Given the description of an element on the screen output the (x, y) to click on. 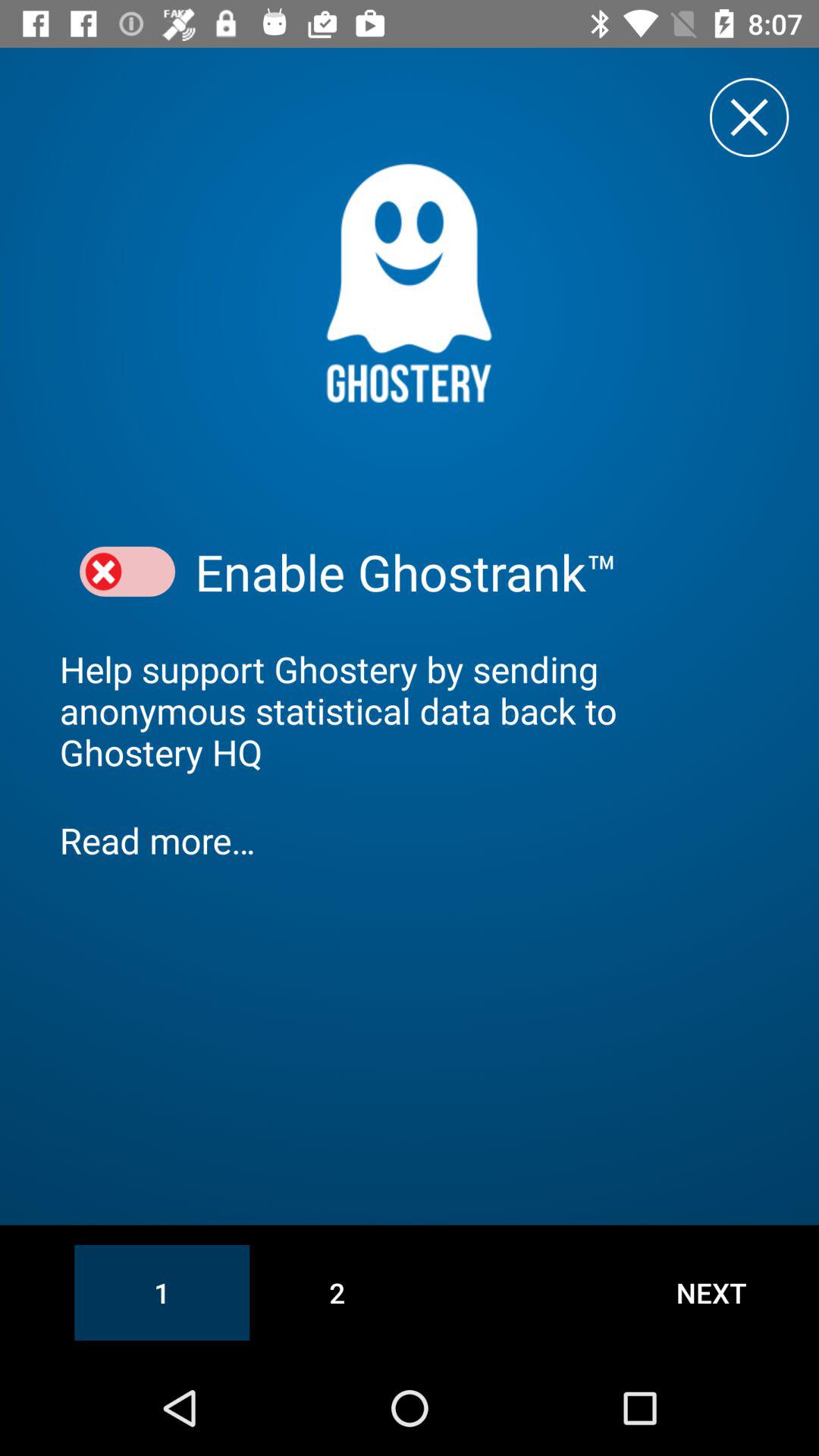
turn off the icon to the left of the next icon (336, 1292)
